Given the description of an element on the screen output the (x, y) to click on. 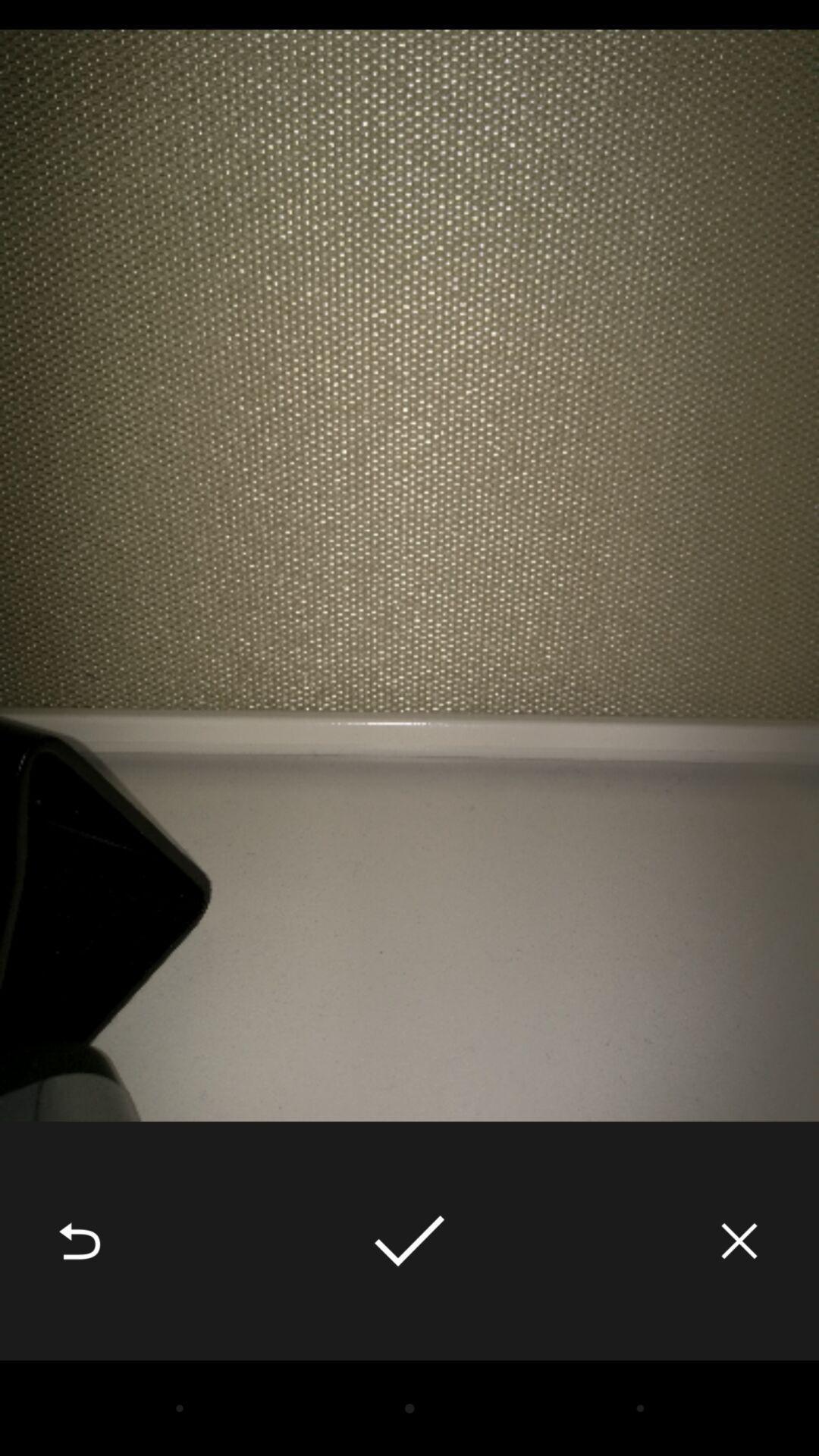
press the item at the bottom right corner (739, 1240)
